Given the description of an element on the screen output the (x, y) to click on. 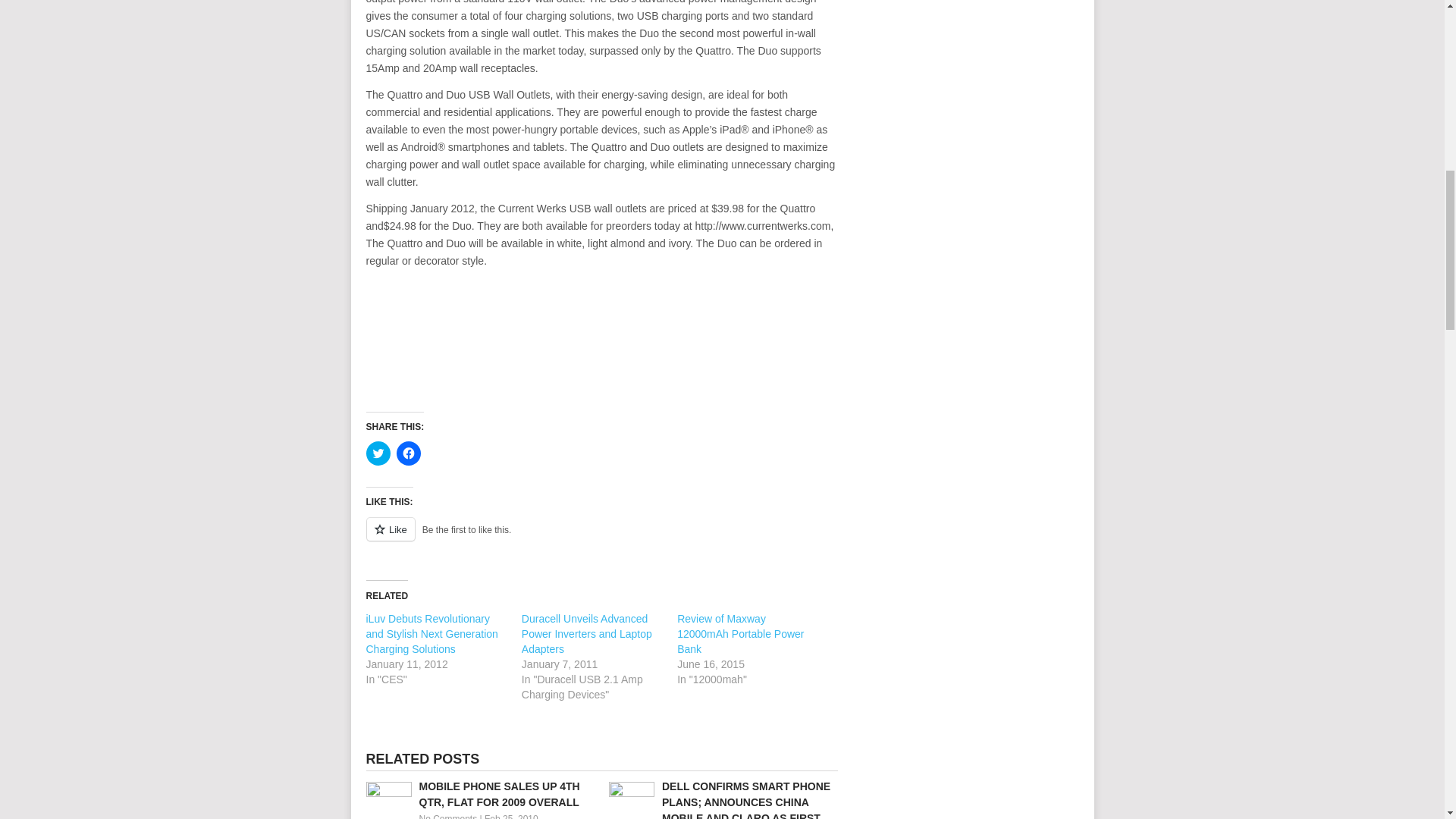
Like or Reblog (601, 537)
Mobile Phone Sales Up 4th Qtr, Flat For 2009 Overall (479, 794)
Review of Maxway 12000mAh Portable Power Bank (740, 633)
Click to share on Twitter (377, 453)
MOBILE PHONE SALES UP 4TH QTR, FLAT FOR 2009 OVERALL (479, 794)
Review of Maxway 12000mAh Portable Power Bank (740, 633)
Click to share on Facebook (408, 453)
No Comments (448, 816)
